Given the description of an element on the screen output the (x, y) to click on. 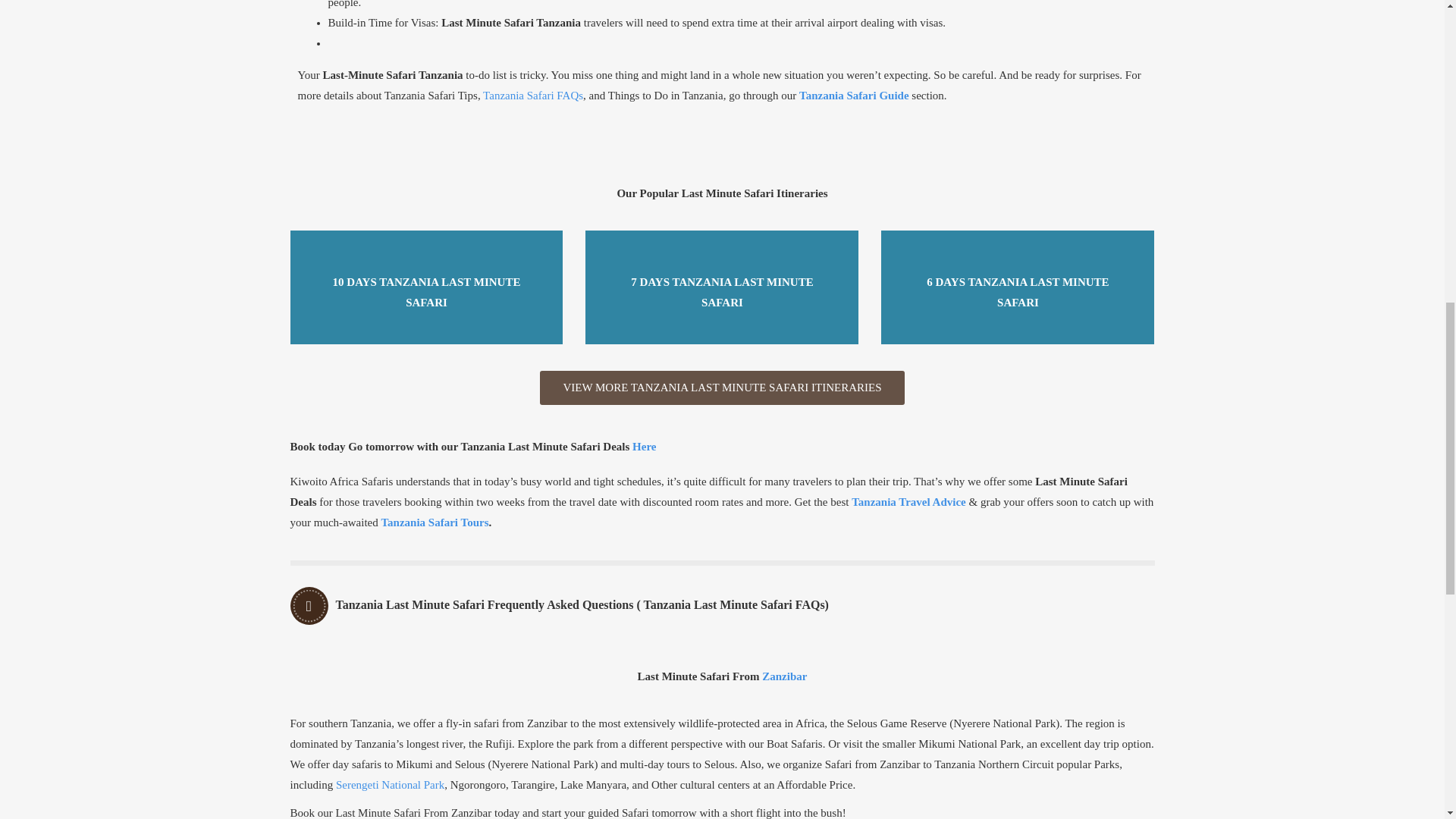
Tanzania Safari Itineraries (722, 387)
